Given the description of an element on the screen output the (x, y) to click on. 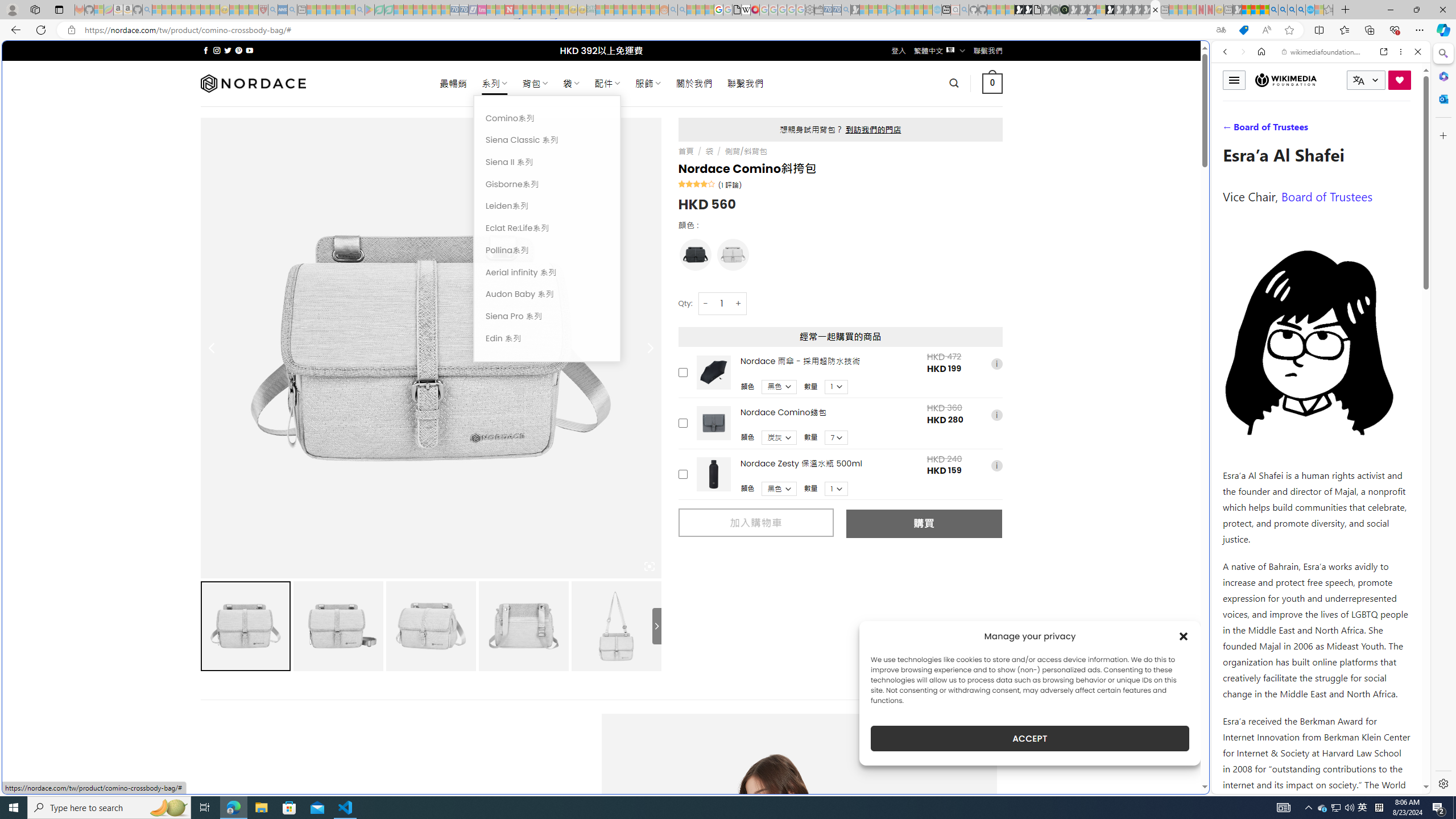
Cheap Hotels - Save70.com - Sleeping (463, 9)
Future Focus Report 2024 - Sleeping (1054, 9)
MSNBC - MSN - Sleeping (600, 9)
This site has coupons! Shopping in Microsoft Edge, 4 (1243, 29)
Open link in new tab (1383, 51)
